Given the description of an element on the screen output the (x, y) to click on. 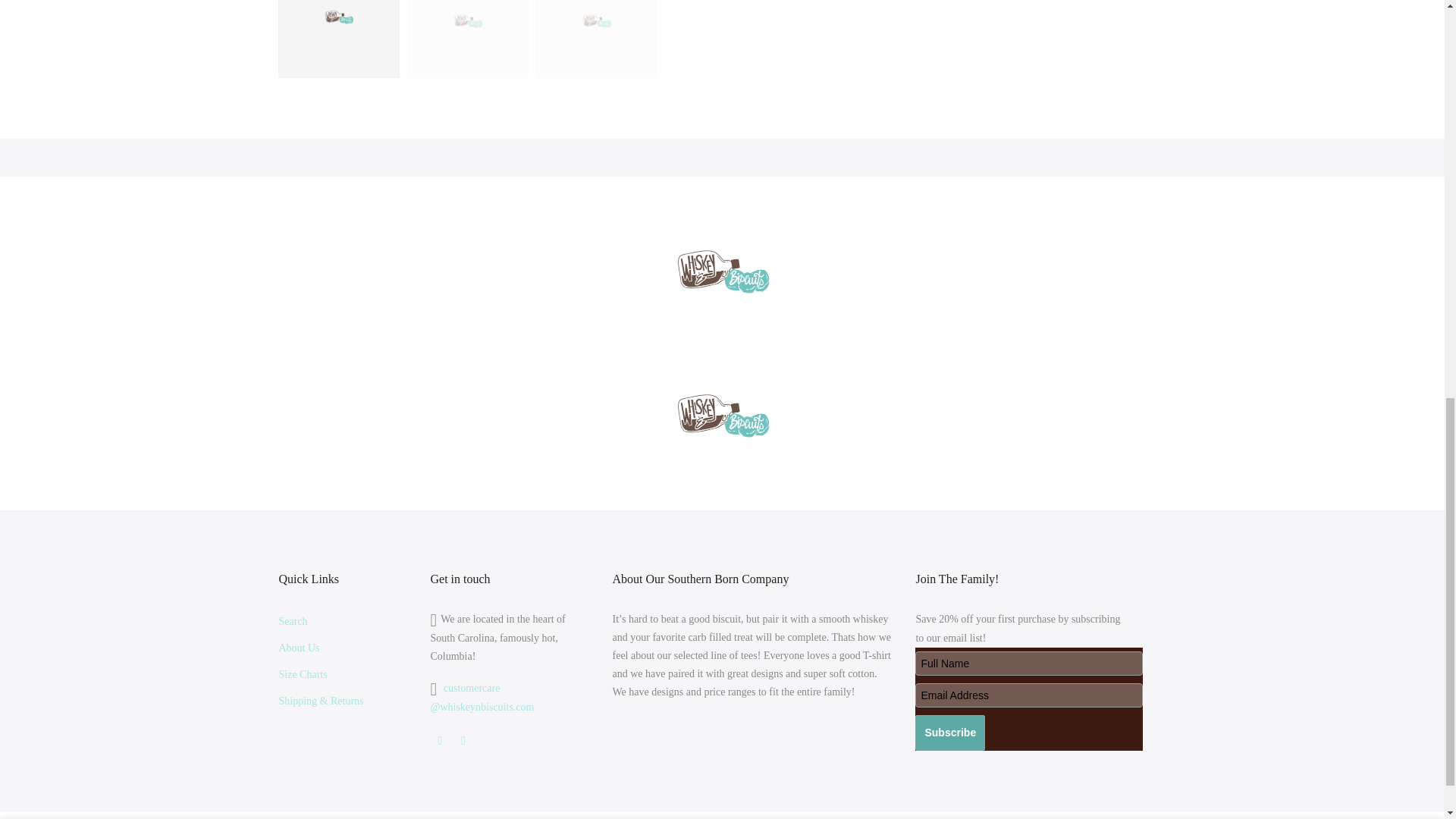
About Us (299, 647)
Subscribe (950, 732)
1 (1001, 35)
Search (293, 621)
Size Charts (303, 674)
